Given the description of an element on the screen output the (x, y) to click on. 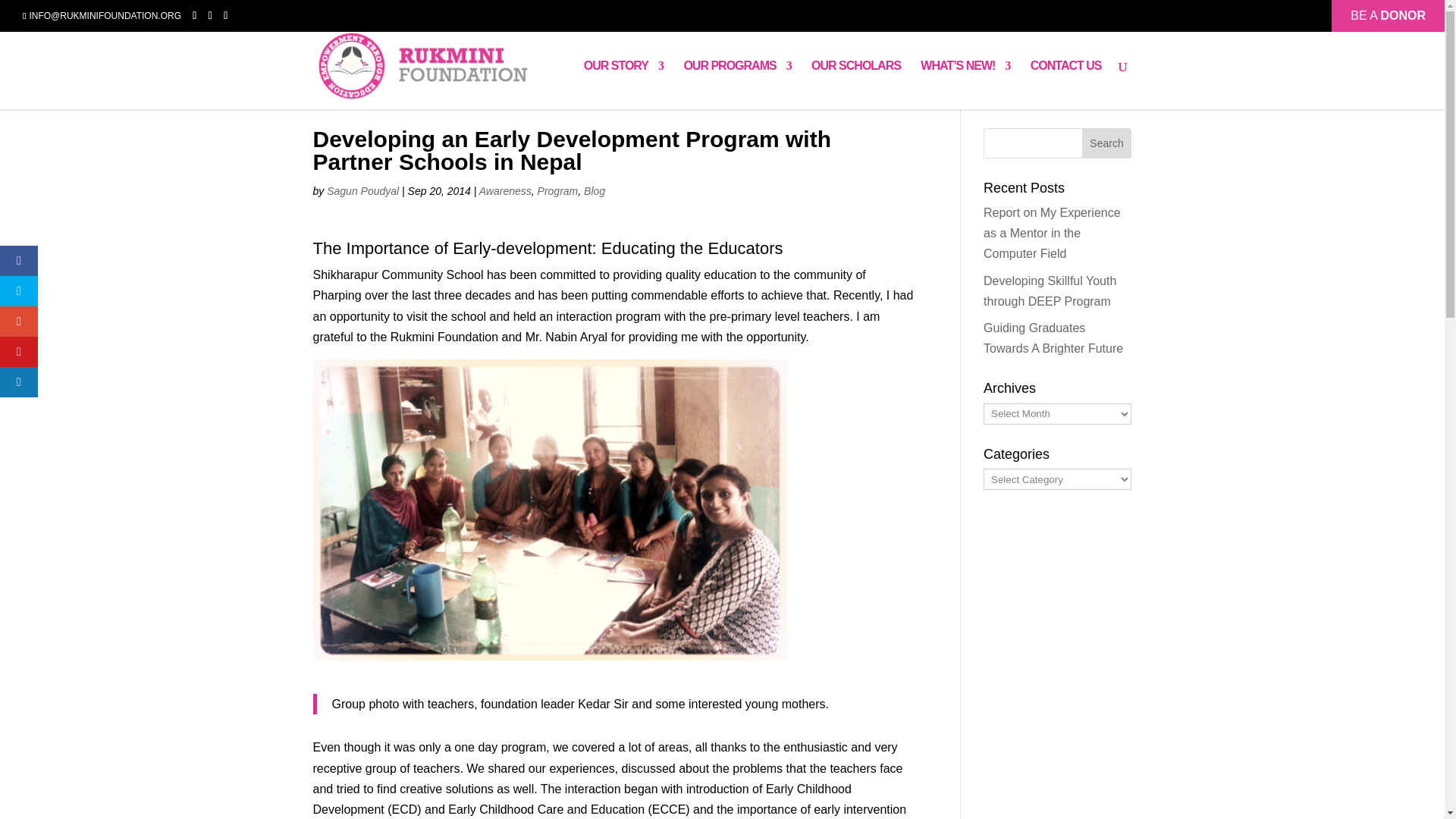
Search (1106, 142)
Sagun Poudyal (362, 191)
Developing Skillful Youth through DEEP Program (1050, 290)
OUR STORY (623, 84)
CONTACT US (1066, 84)
BE A DONOR (1388, 10)
OUR SCHOLARS (855, 84)
Search (1106, 142)
Blog (594, 191)
Posts by Sagun Poudyal (362, 191)
Guiding Graduates Towards A Brighter Future (1053, 337)
OUR PROGRAMS (736, 84)
Report on My Experience as a Mentor in the Computer Field (1052, 233)
Program (557, 191)
Awareness (505, 191)
